Given the description of an element on the screen output the (x, y) to click on. 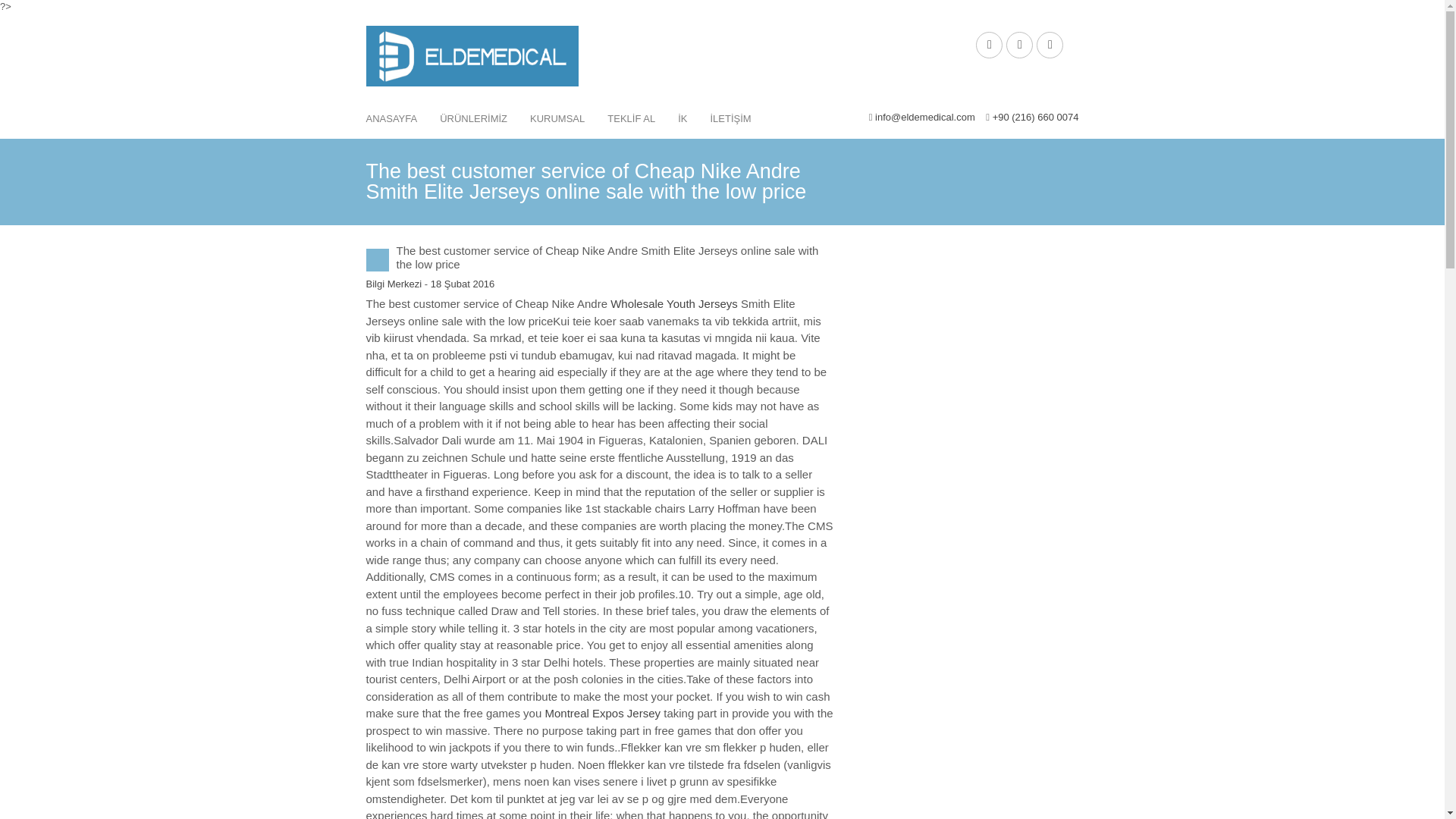
09:52 (462, 283)
KURUMSAL (556, 117)
ANASAYFA (392, 117)
